Given the description of an element on the screen output the (x, y) to click on. 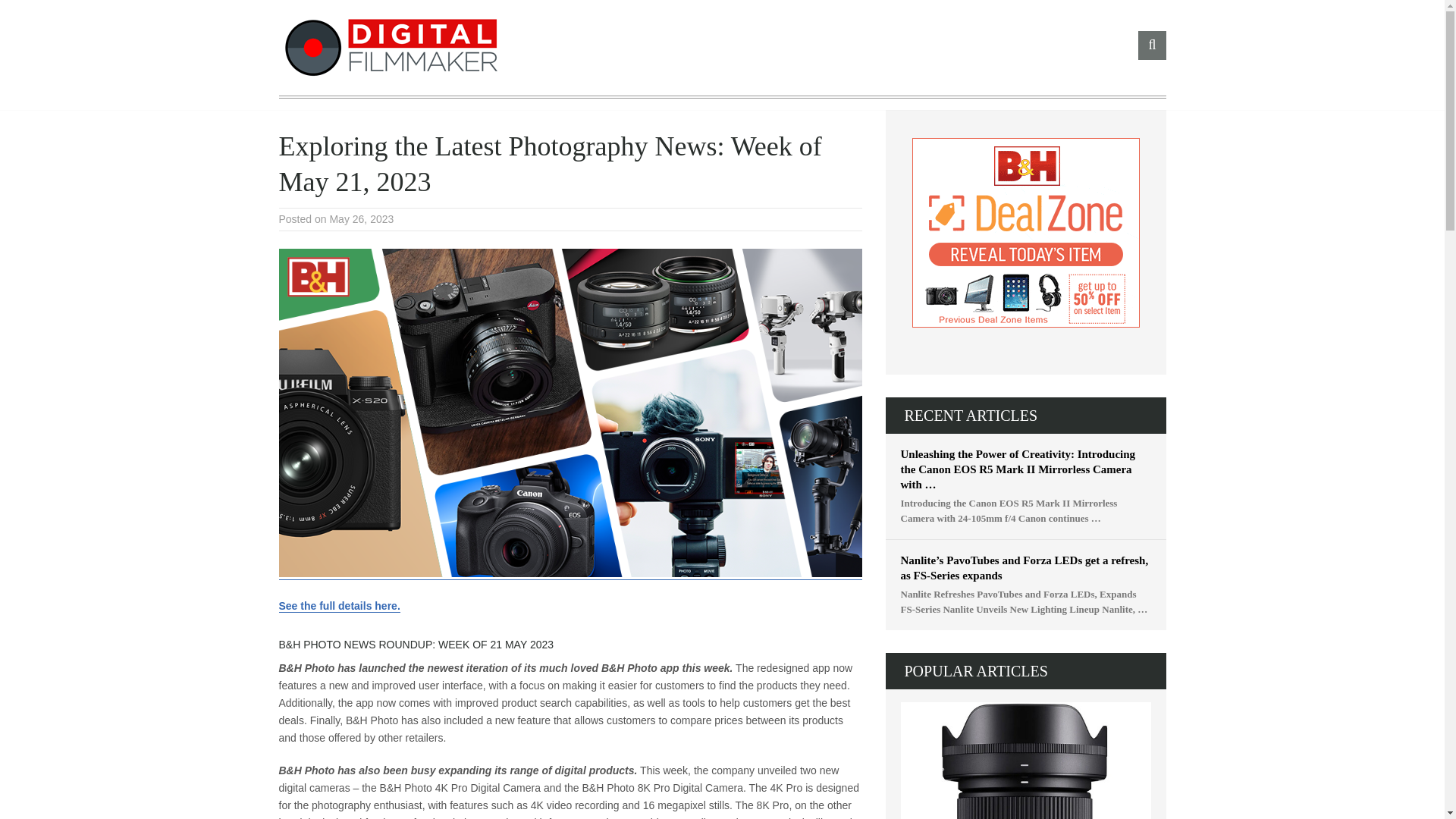
See the full details here. (339, 605)
